Given the description of an element on the screen output the (x, y) to click on. 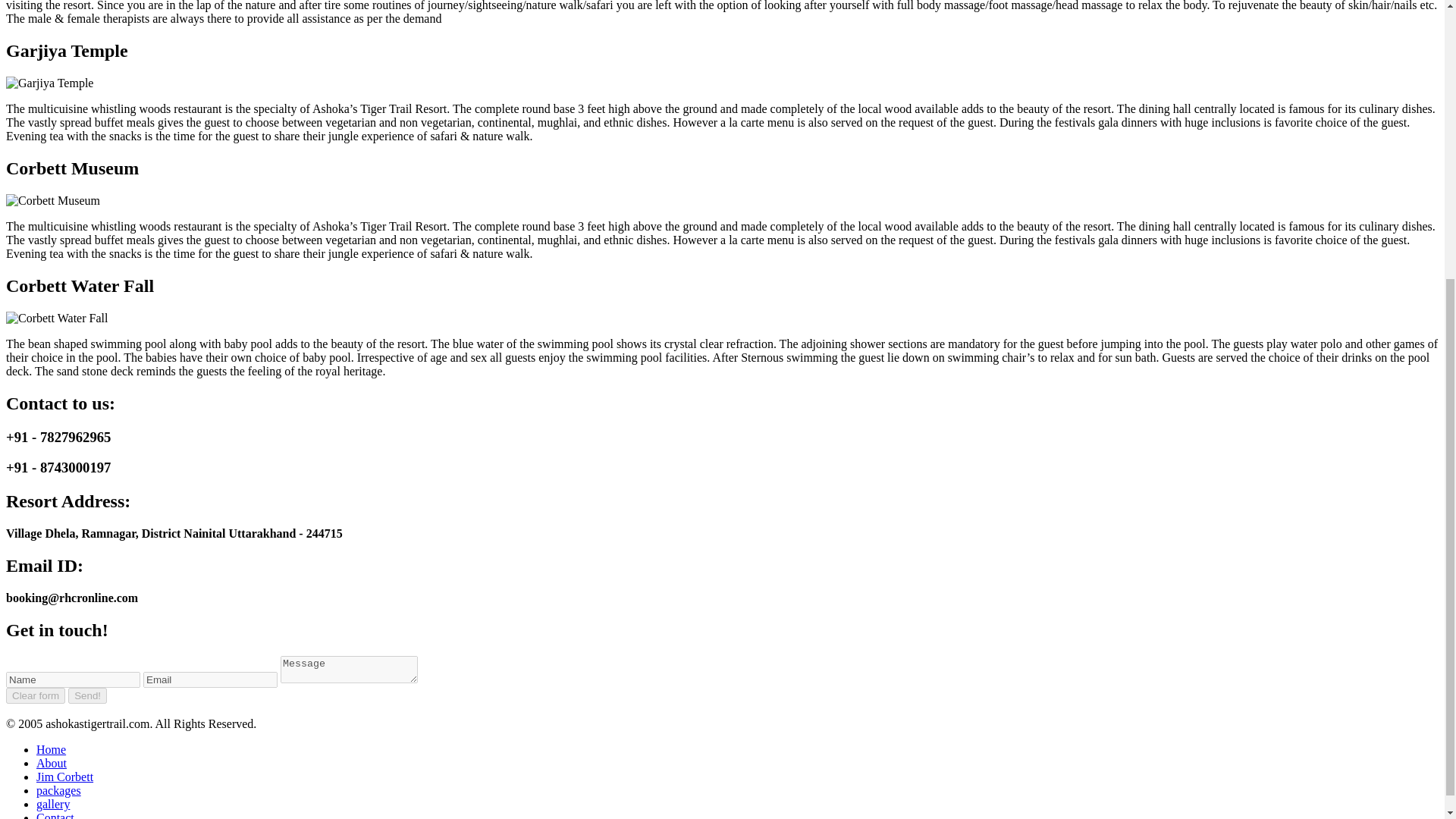
Jim Corbett (64, 776)
packages (58, 789)
Name (72, 679)
About (51, 762)
Clear form (35, 695)
Email (210, 679)
gallery (52, 803)
Send! (87, 695)
Send! (87, 695)
Home (50, 748)
